Given the description of an element on the screen output the (x, y) to click on. 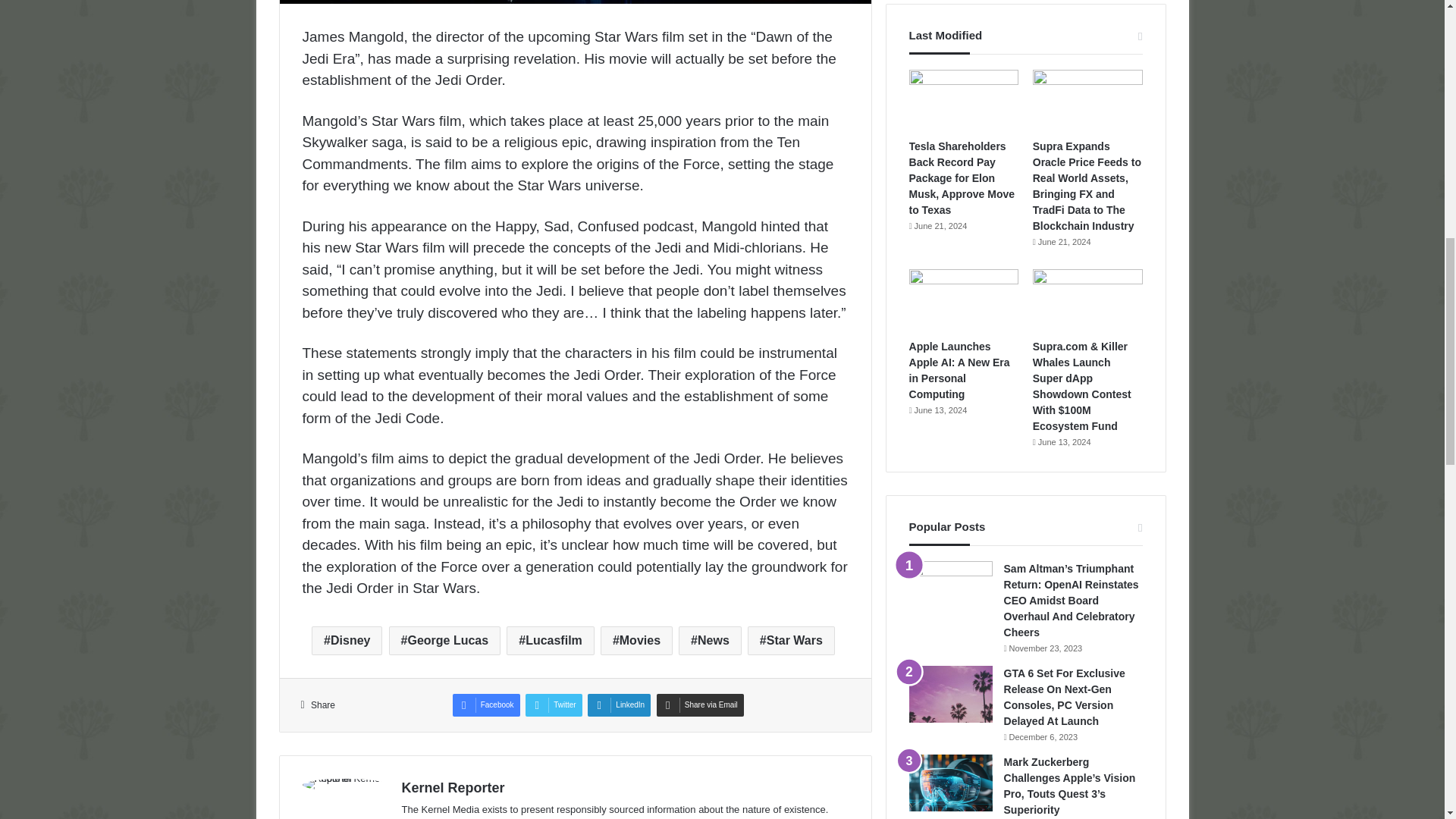
Share via Email (700, 704)
LinkedIn (619, 704)
Facebook (485, 704)
Twitter (552, 704)
